Given the description of an element on the screen output the (x, y) to click on. 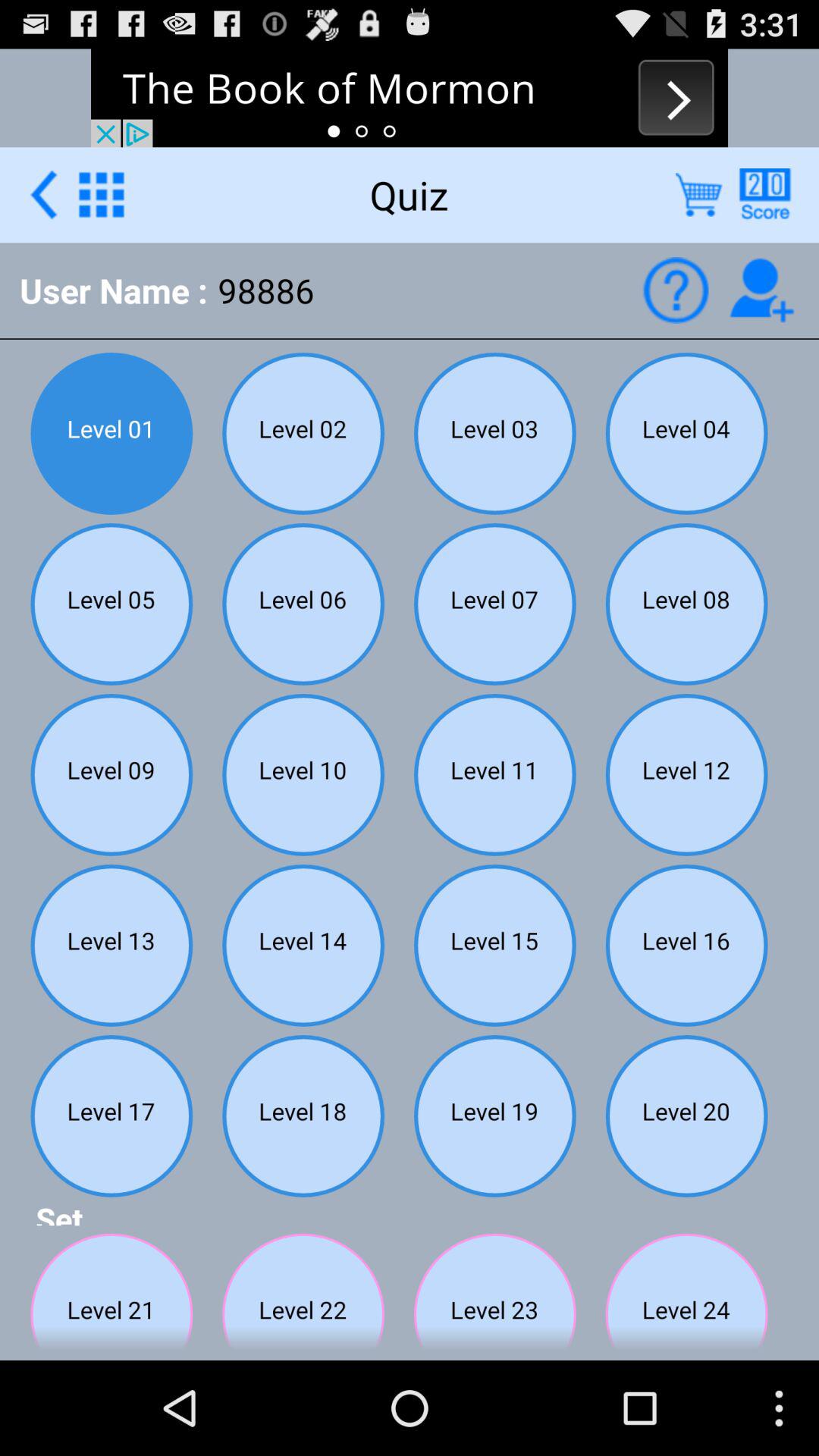
click help button (675, 290)
